Given the description of an element on the screen output the (x, y) to click on. 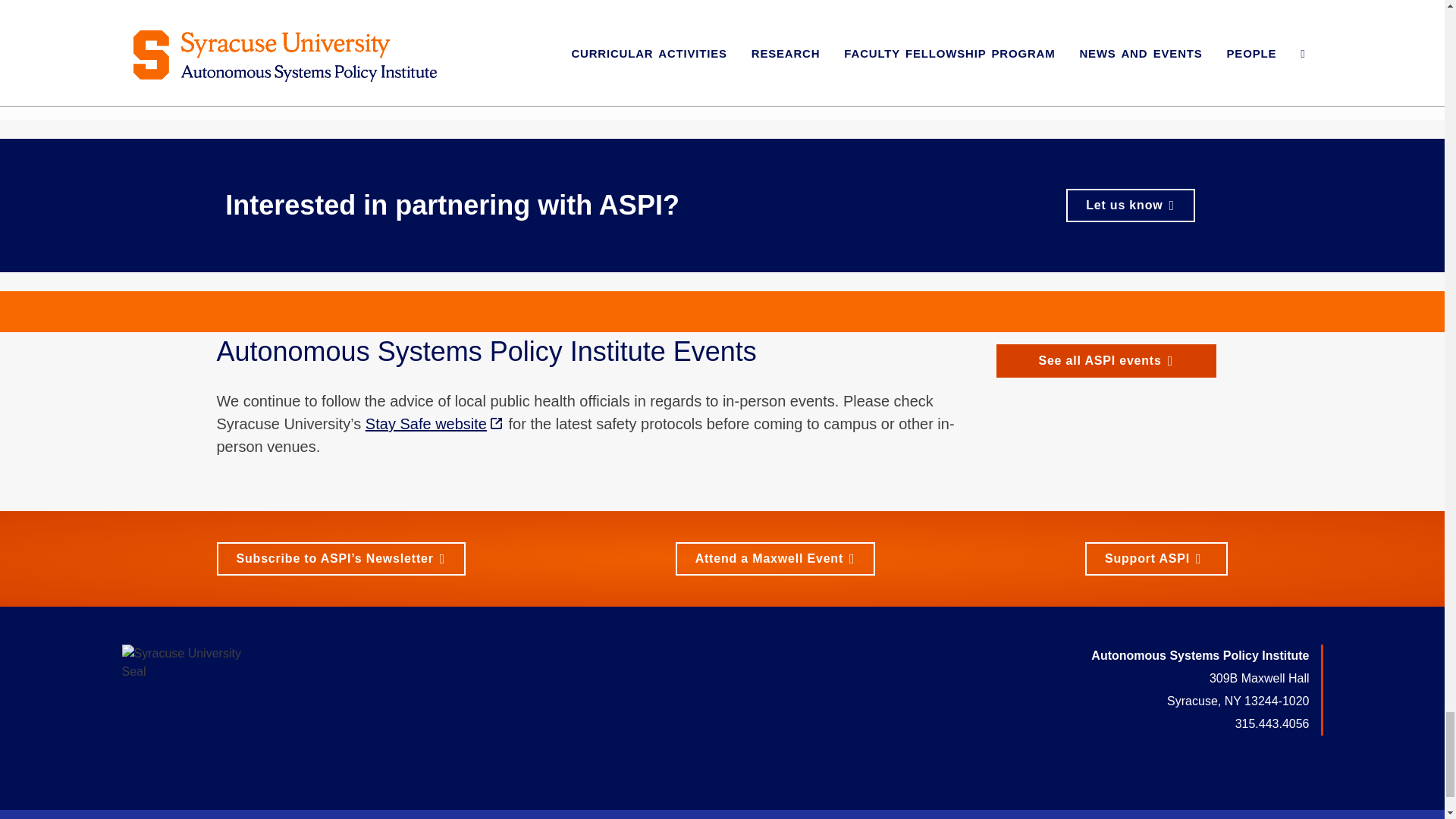
Black (420, 29)
Federal (133, 6)
Income (518, 29)
United States (199, 6)
Housing (467, 29)
Congress (75, 6)
LatinX (566, 29)
